Given the description of an element on the screen output the (x, y) to click on. 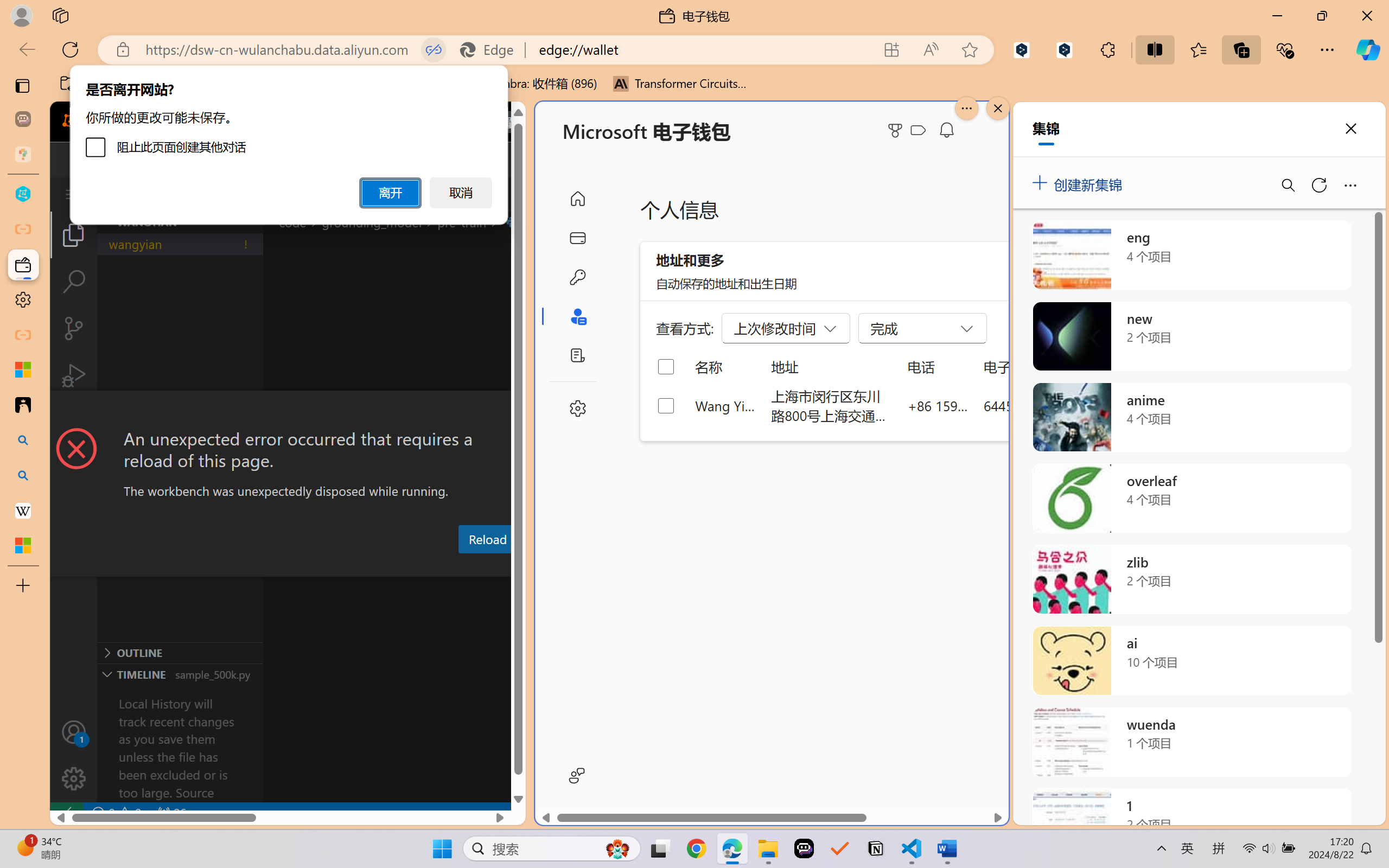
Reload (486, 538)
Problems (Ctrl+Shift+M) (308, 565)
Microsoft Cashback (920, 130)
